Given the description of an element on the screen output the (x, y) to click on. 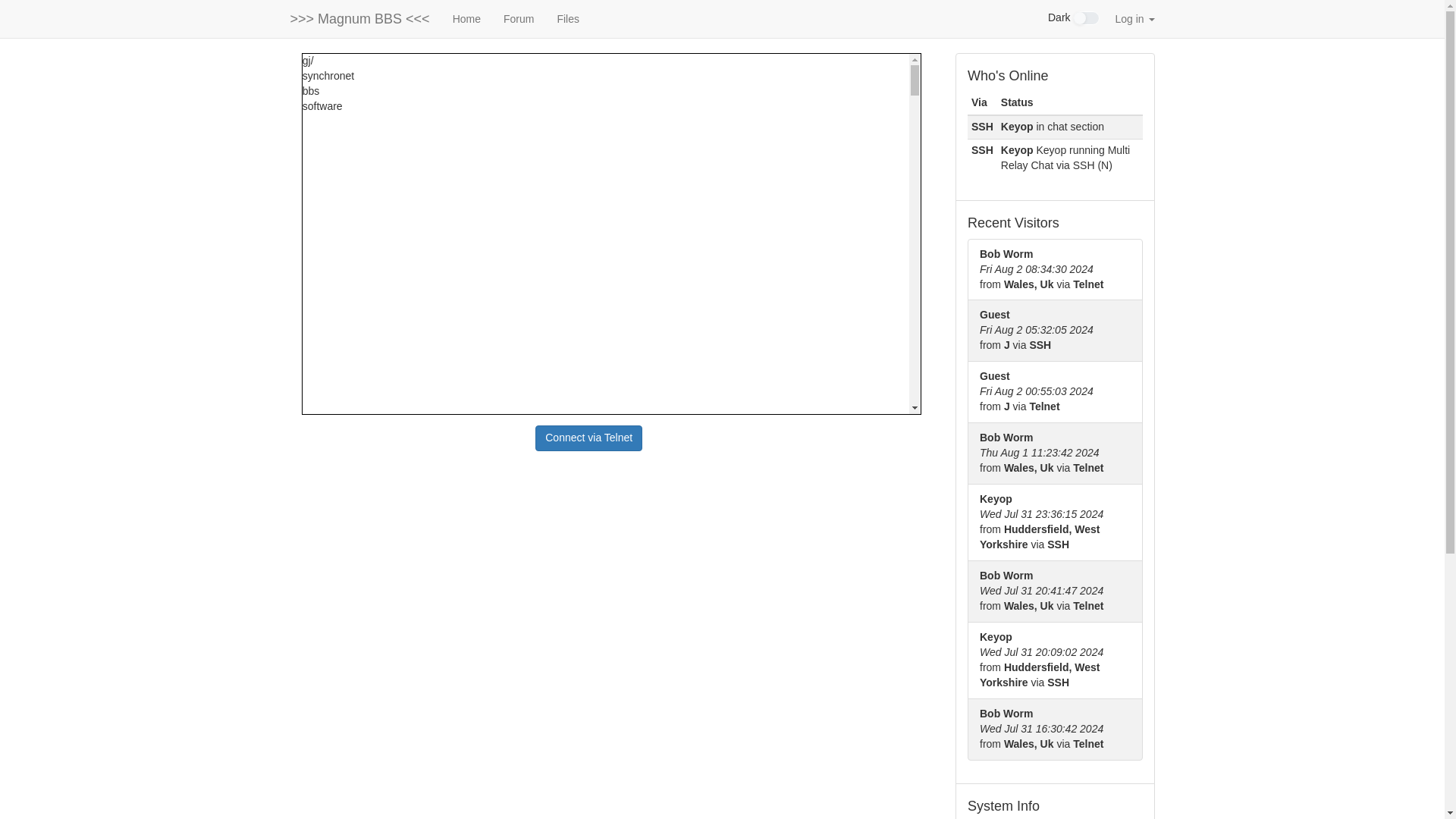
Files (567, 18)
Forum (518, 18)
Connect via Telnet (588, 438)
Log in (1134, 18)
Home (466, 18)
